Given the description of an element on the screen output the (x, y) to click on. 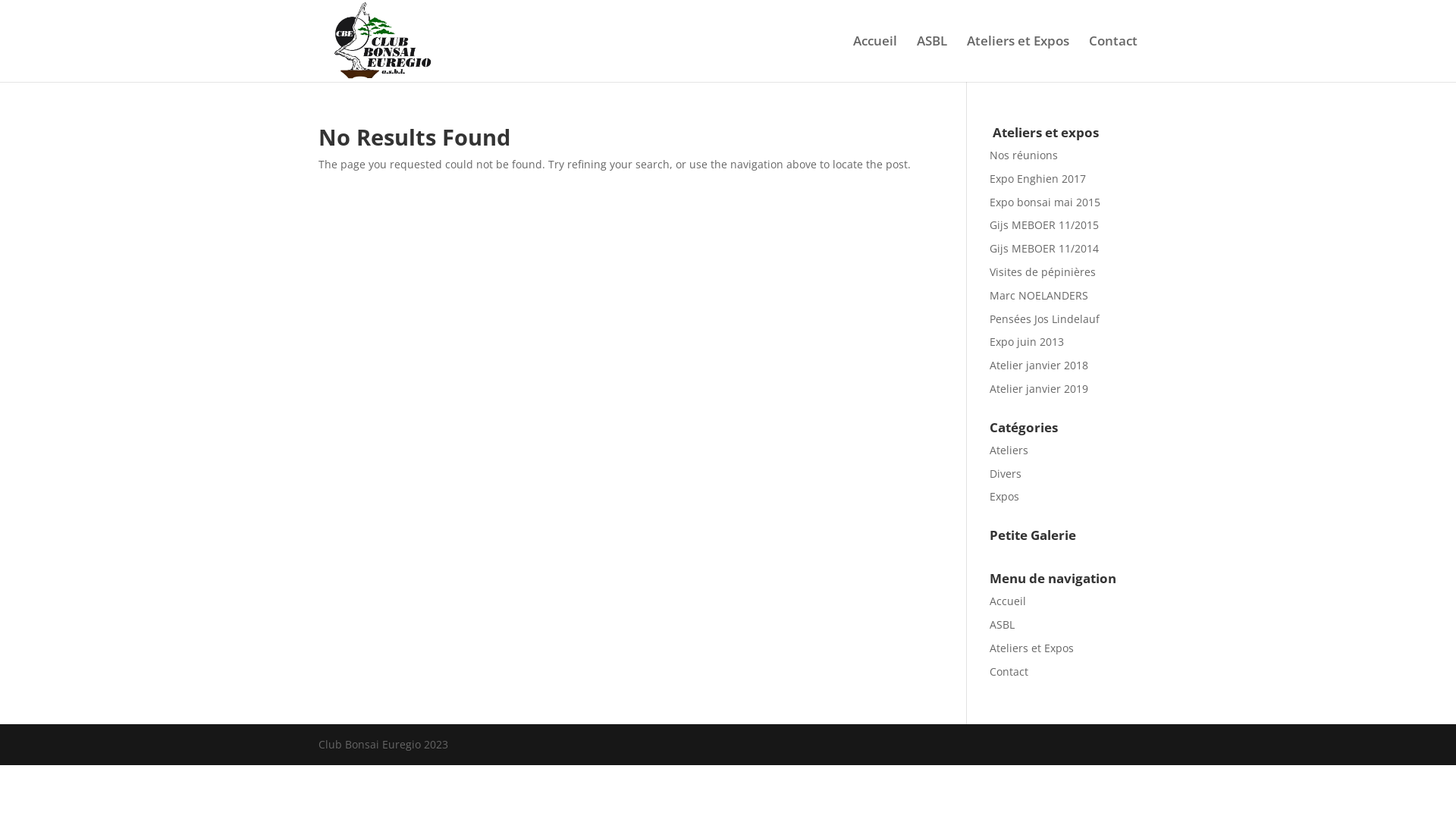
ASBL Element type: text (931, 58)
Atelier janvier 2018 Element type: text (1038, 364)
Contact Element type: text (1008, 671)
Ateliers et Expos Element type: text (1031, 647)
Accueil Element type: text (875, 58)
Gijs MEBOER 11/2015 Element type: text (1043, 224)
Divers Element type: text (1005, 473)
Atelier janvier 2019 Element type: text (1038, 388)
Expo juin 2013 Element type: text (1026, 341)
ASBL Element type: text (1001, 624)
Marc NOELANDERS Element type: text (1038, 295)
Gijs MEBOER 11/2014 Element type: text (1043, 248)
Expos Element type: text (1004, 496)
Accueil Element type: text (1007, 600)
Expo bonsai mai 2015 Element type: text (1044, 201)
Contact Element type: text (1112, 58)
Expo Enghien 2017 Element type: text (1037, 178)
Ateliers Element type: text (1008, 449)
Ateliers et Expos Element type: text (1017, 58)
